Given the description of an element on the screen output the (x, y) to click on. 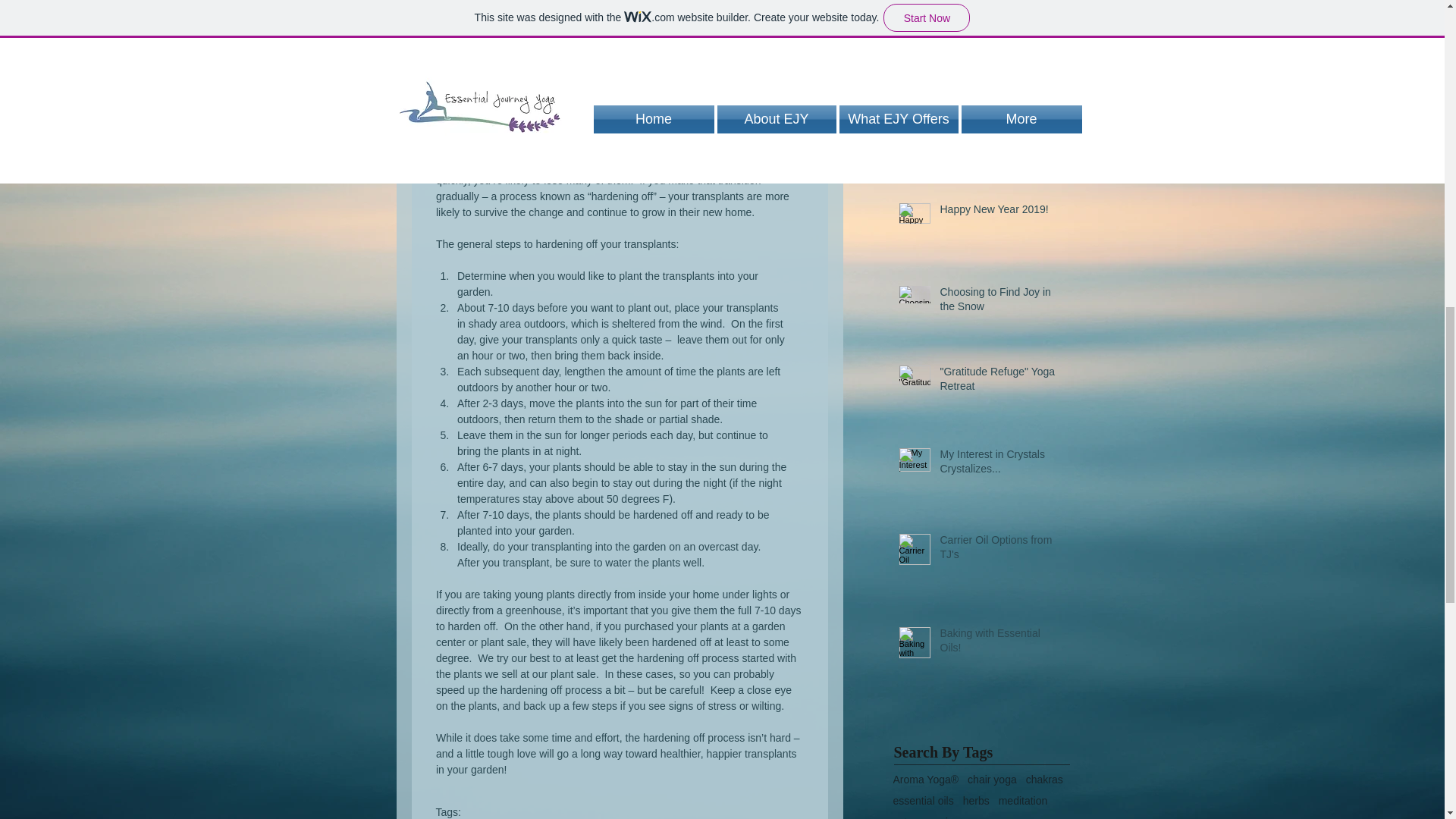
seasons (981, 817)
Baking with Essential Oils! (998, 643)
chakras (1044, 779)
meditation (1023, 800)
Happy New Year 2019! (998, 211)
herbs (976, 800)
chair yoga (992, 779)
osteoporosis (923, 817)
essential oils (923, 800)
Yoga for Strong Bones (998, 9)
